Given the description of an element on the screen output the (x, y) to click on. 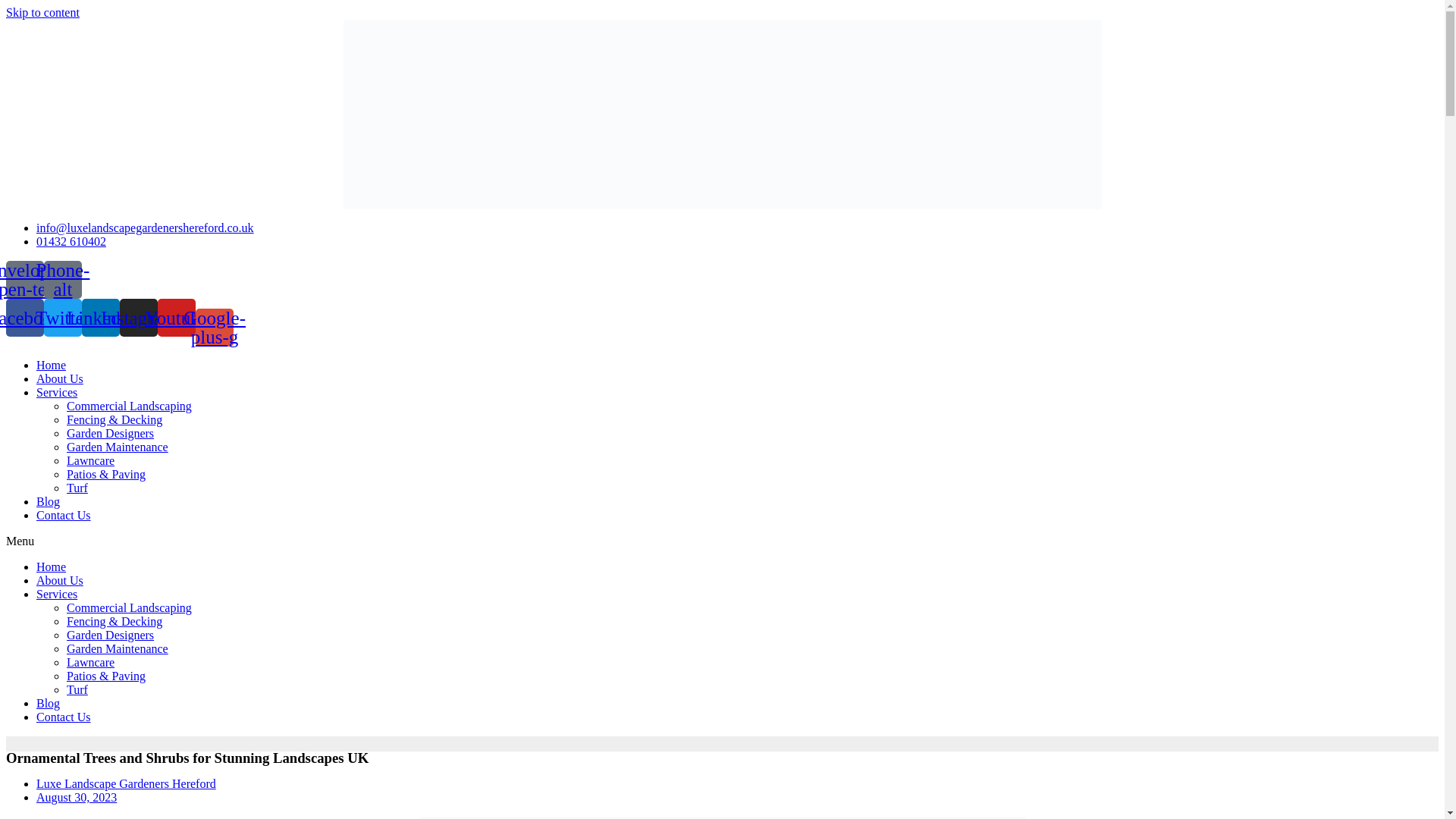
Linkedin (100, 317)
Skip to content (42, 11)
Facebook (24, 317)
Garden Maintenance (117, 445)
Youtube (176, 317)
About Us (59, 377)
Garden Maintenance (117, 647)
Turf (76, 688)
Home (50, 364)
August 30, 2023 (76, 797)
Lawncare (90, 459)
01432 610402 (71, 241)
Blog (47, 500)
Luxe Landscape Gardeners Hereford (125, 783)
Services (56, 593)
